Given the description of an element on the screen output the (x, y) to click on. 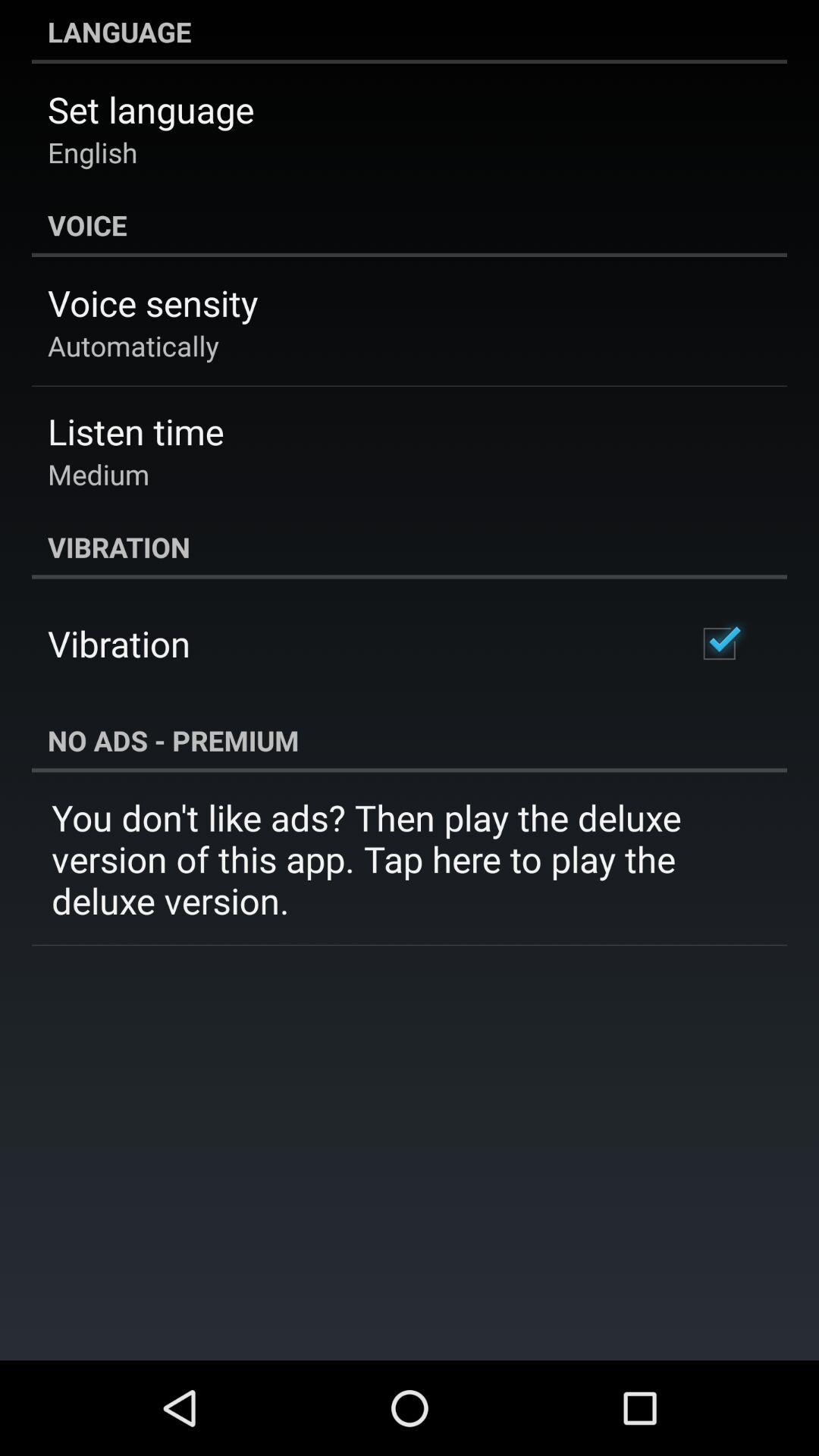
select the app next to vibration item (719, 643)
